Given the description of an element on the screen output the (x, y) to click on. 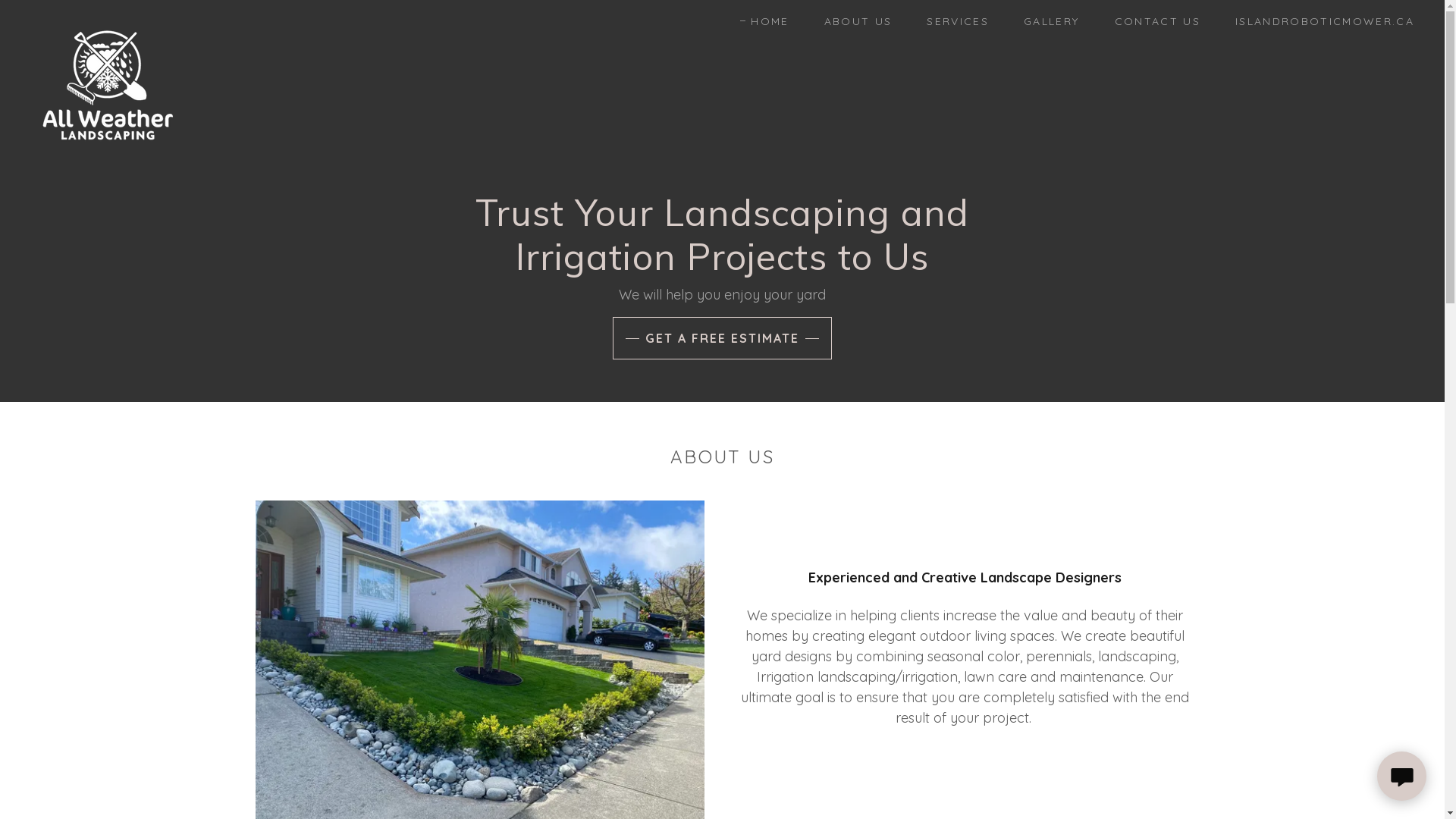
GET A FREE ESTIMATE Element type: text (721, 337)
CONTACT US Element type: text (1151, 20)
All Weather Landscaping Element type: hover (106, 18)
HOME Element type: text (764, 21)
SERVICES Element type: text (952, 20)
ABOUT US Element type: text (853, 20)
GALLERY Element type: text (1045, 20)
ISLANDROBOTICMOWER.CA Element type: text (1319, 20)
